Given the description of an element on the screen output the (x, y) to click on. 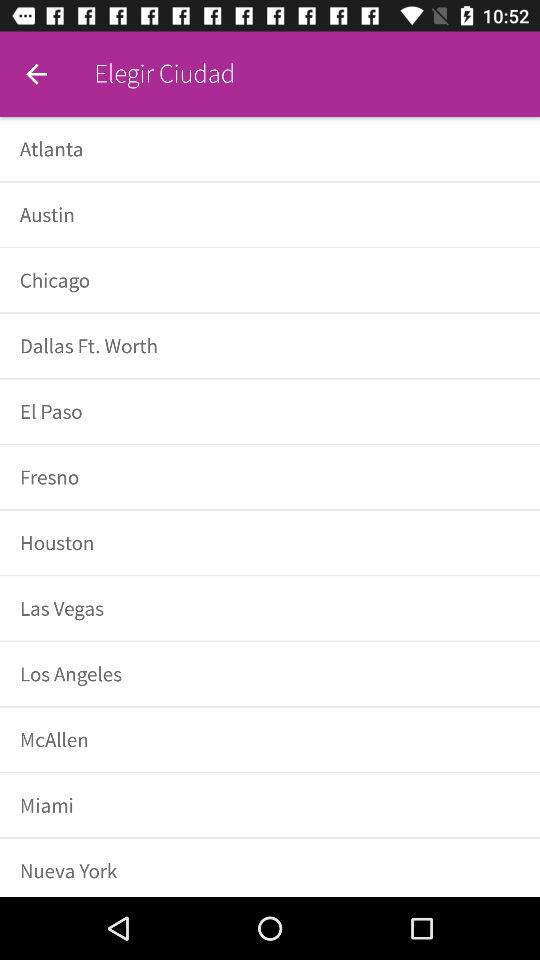
go back (36, 74)
